Given the description of an element on the screen output the (x, y) to click on. 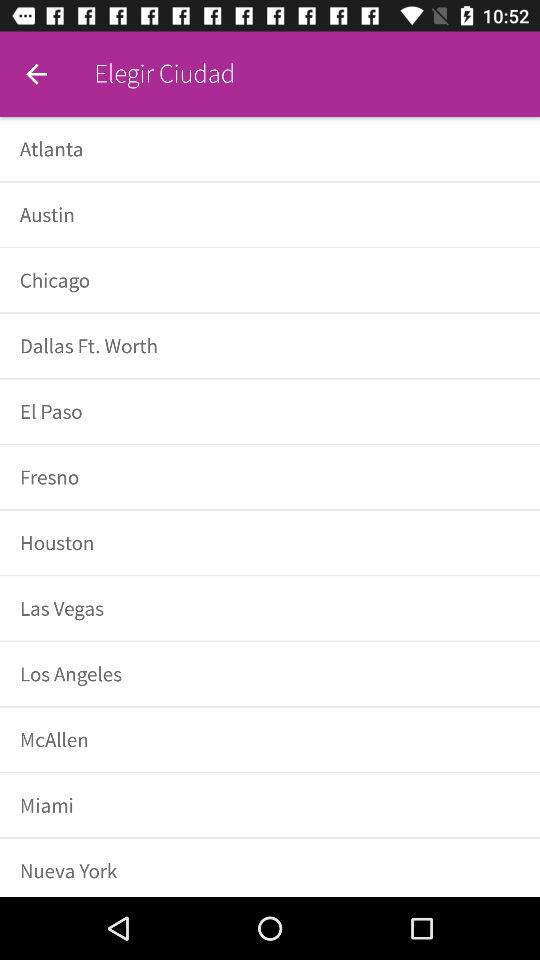
go back (36, 74)
